Given the description of an element on the screen output the (x, y) to click on. 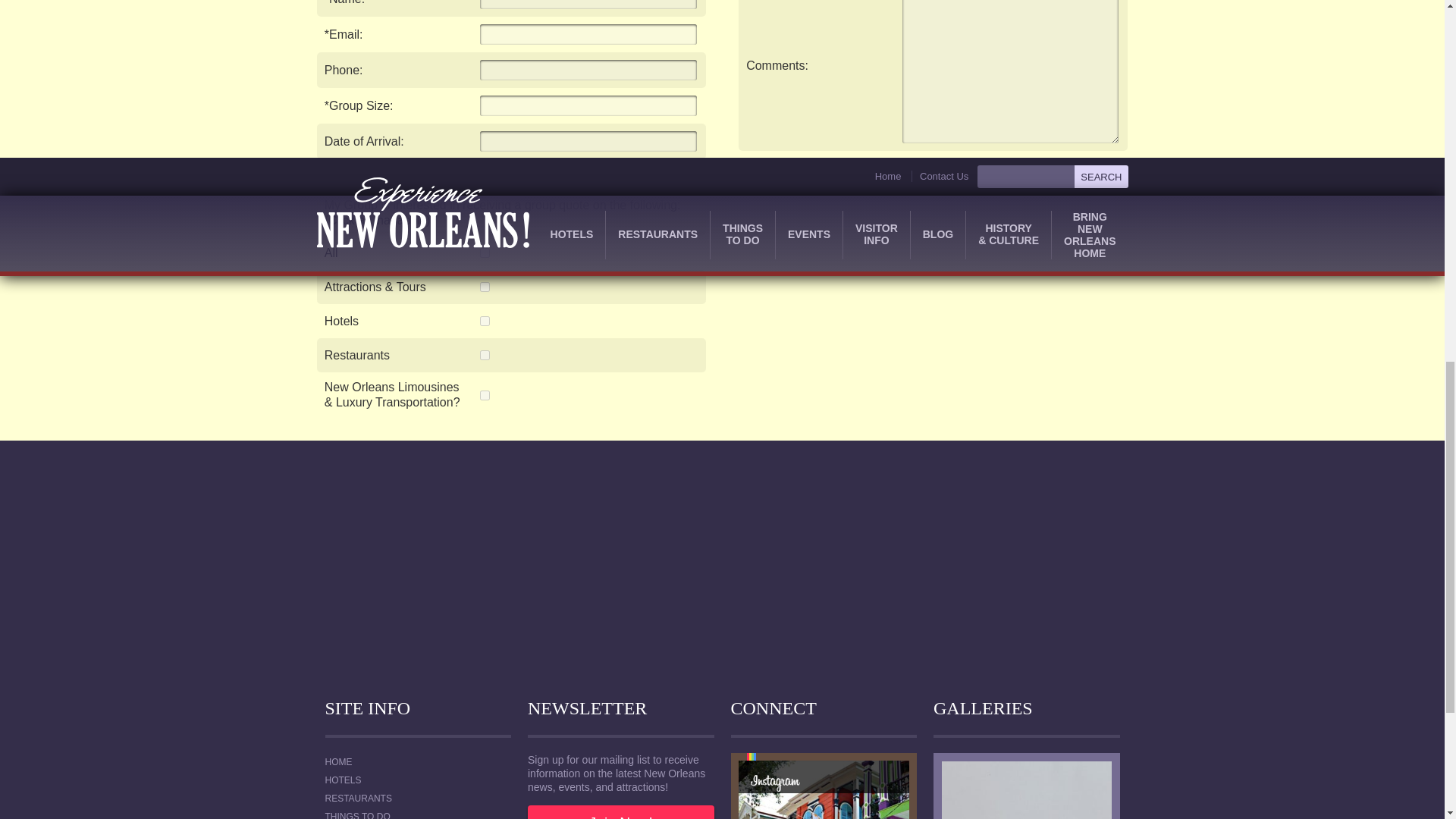
Please leave a comment! (1010, 71)
You must enter a valid email! (588, 34)
You must enter your Name! (588, 4)
You must specify your group's size! (588, 105)
